Given the description of an element on the screen output the (x, y) to click on. 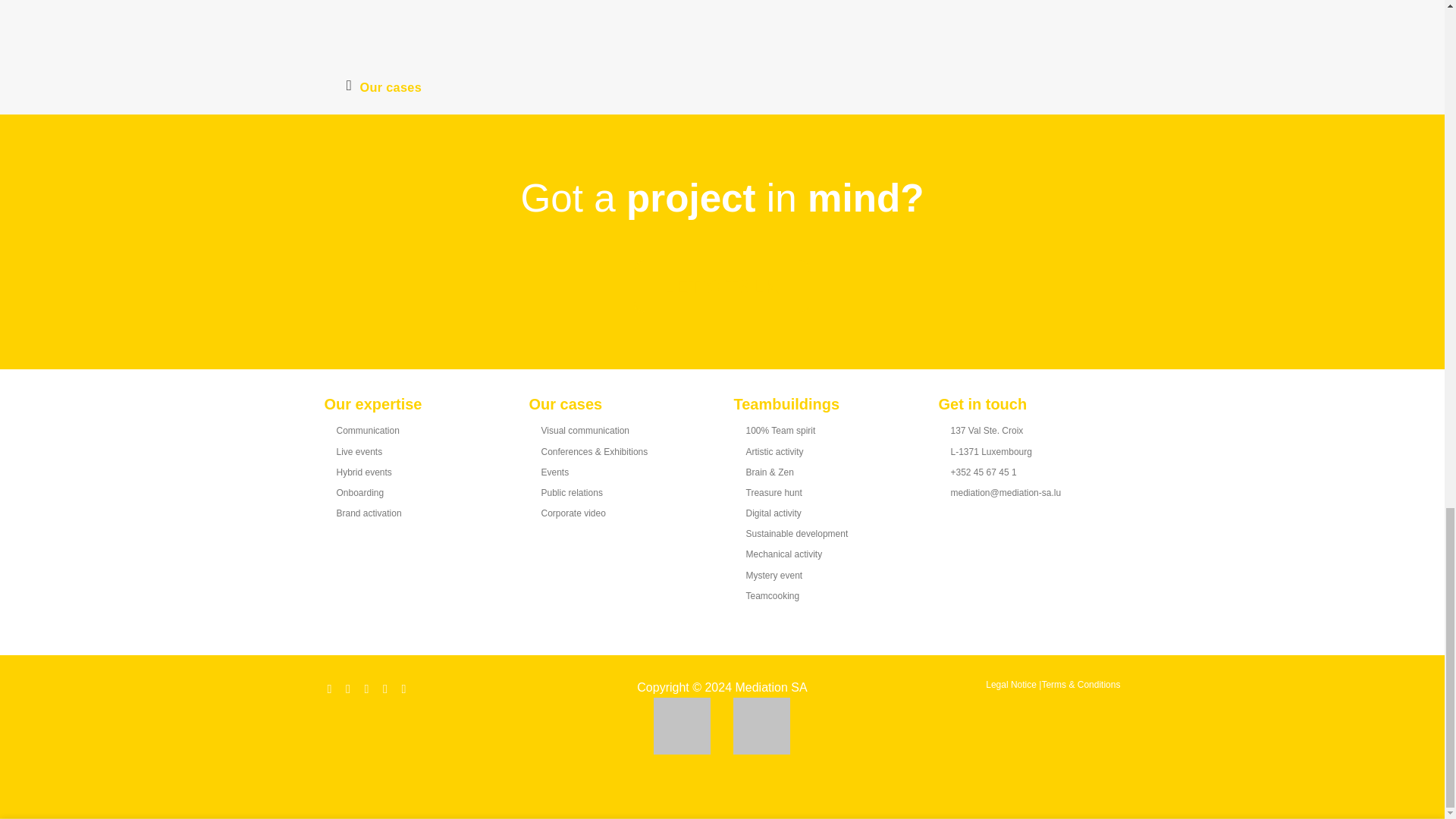
Public relations (571, 492)
Legal Notice (1010, 684)
Our cases (383, 87)
Live events (359, 450)
Send us an email (371, 688)
Mechanical activity (783, 553)
Communication (367, 430)
Visual communication (585, 430)
LET'S TALK (721, 286)
Follow on Instagram (352, 688)
